Given the description of an element on the screen output the (x, y) to click on. 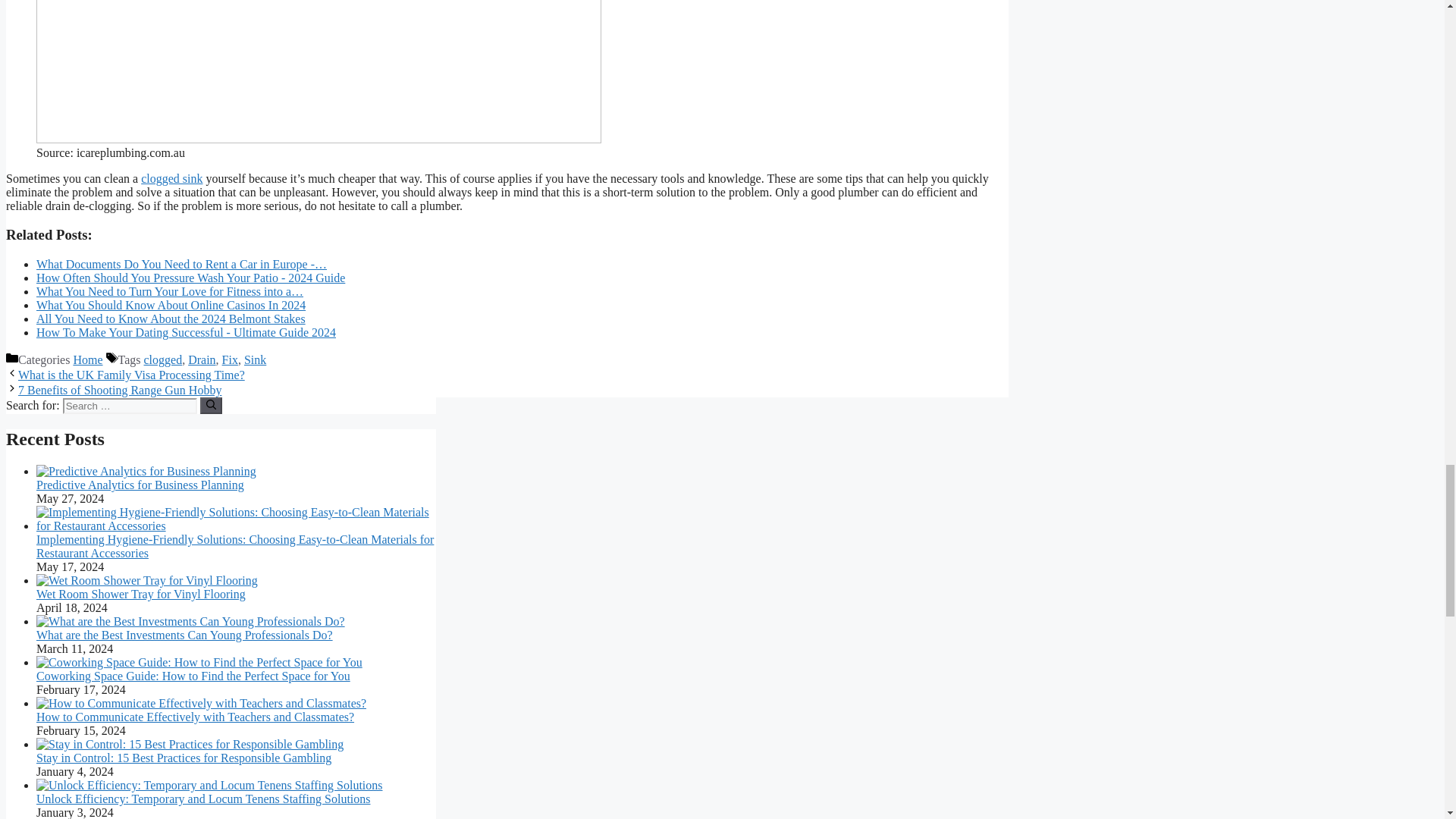
Wet Room Shower Tray for Vinyl Flooring (141, 594)
All You Need to Know About the 2024 Belmont Stakes (170, 318)
Predictive Analytics for Business Planning (140, 484)
What is the UK Family Visa Processing Time? (130, 374)
What You Should Know About Online Casinos In 2024 (170, 305)
Home (86, 359)
Sink (255, 359)
Search for: (129, 406)
How To Make Your Dating Successful - Ultimate Guide 2024 (186, 332)
